Given the description of an element on the screen output the (x, y) to click on. 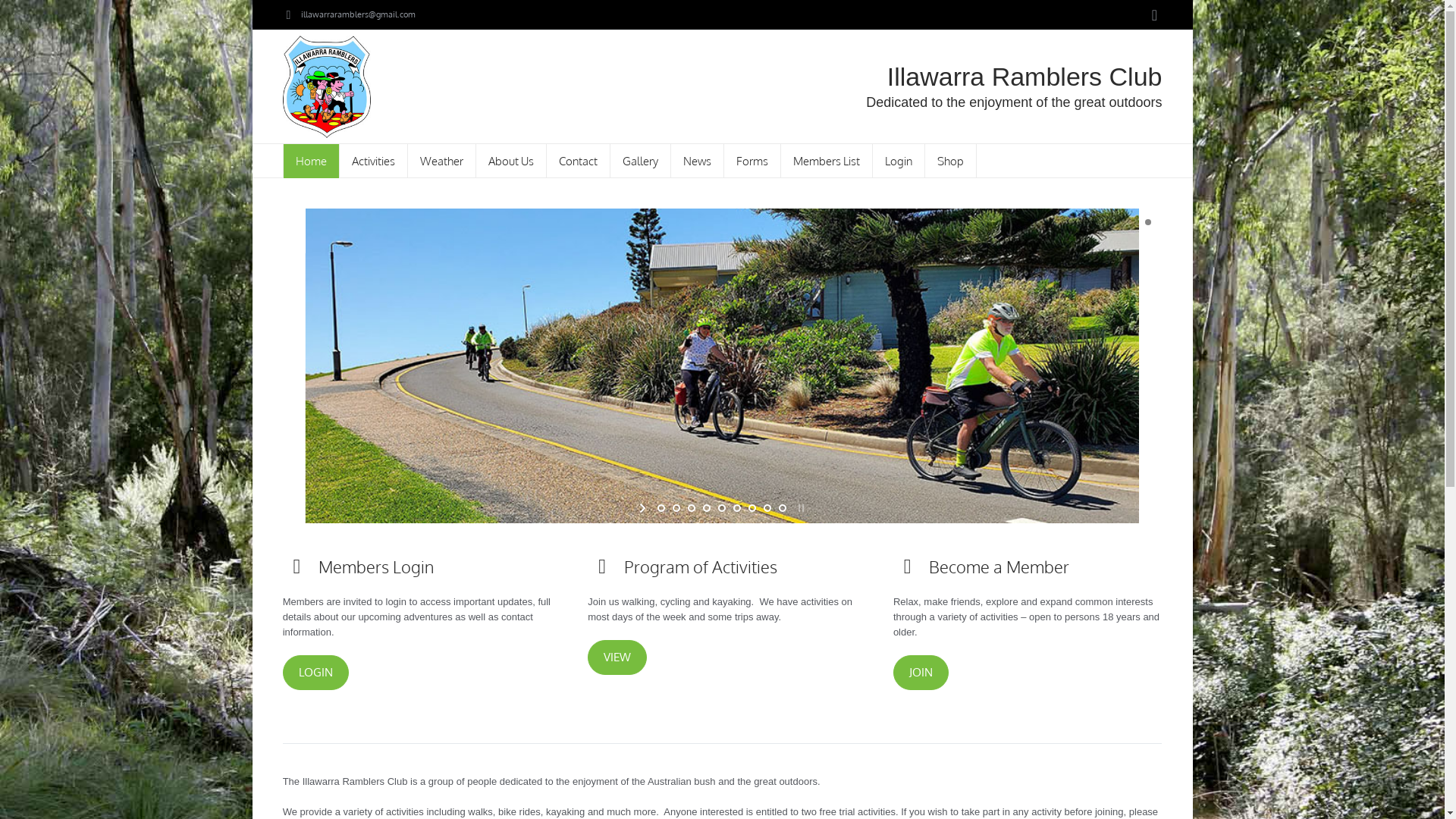
Weather Element type: text (441, 161)
Activities Element type: text (373, 161)
JOIN Element type: text (920, 672)
Shop Element type: text (950, 161)
Contact Element type: text (577, 161)
Facebook Element type: hover (1153, 14)
About Us Element type: text (511, 161)
Gallery Element type: text (639, 161)
Home Element type: text (310, 161)
LOGIN Element type: text (315, 672)
Login Element type: text (898, 161)
Members List Element type: text (826, 161)
News Element type: text (696, 161)
Forms Element type: text (751, 161)
VIEW Element type: text (616, 657)
illawarraramblers@gmail.com Element type: text (357, 14)
